Given the description of an element on the screen output the (x, y) to click on. 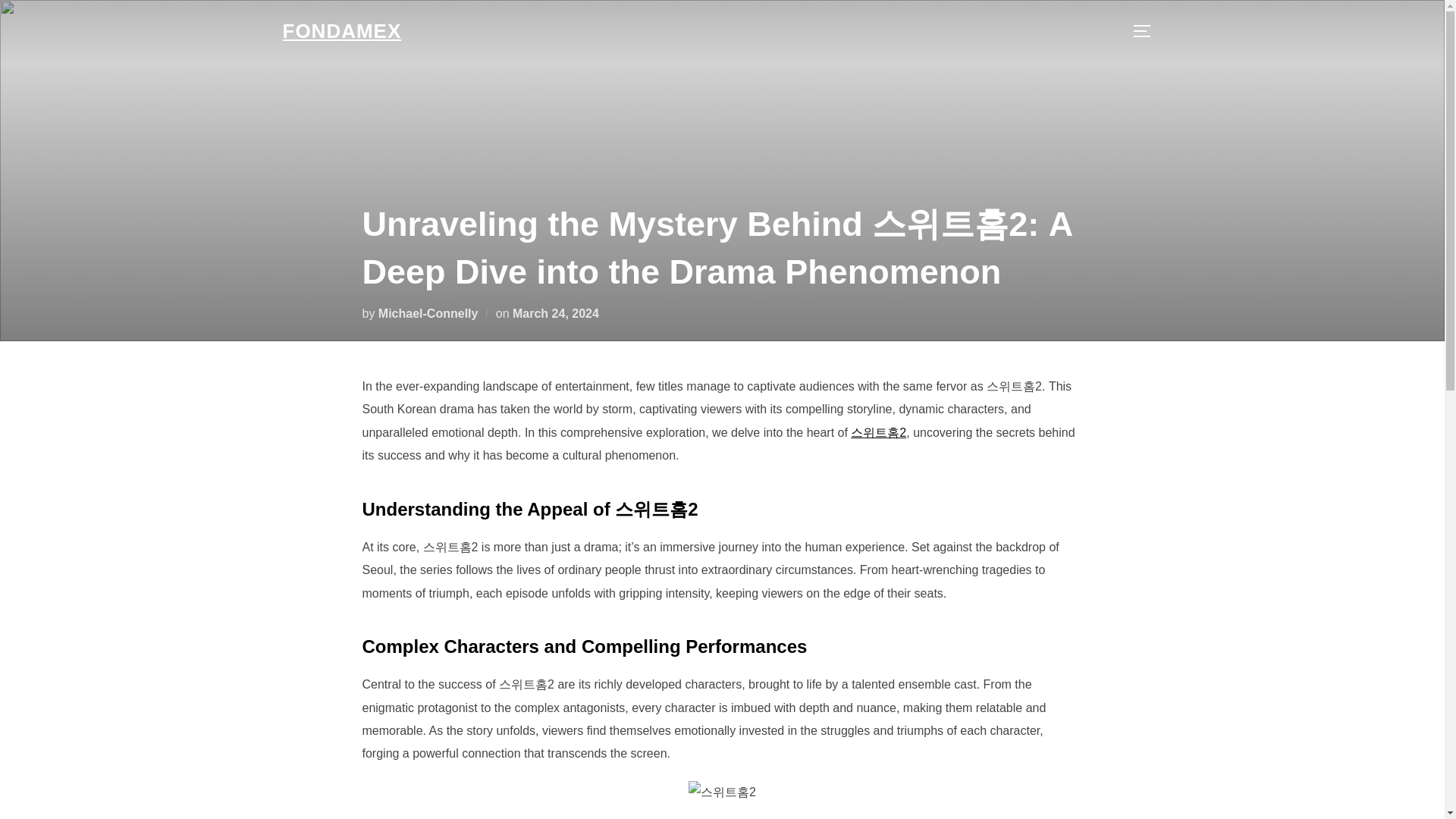
Michael-Connelly (428, 312)
March 24, 2024 (555, 312)
Exploring the Heart of Mexico, A Journey Through Culture (341, 31)
FONDAMEX (341, 31)
